Given the description of an element on the screen output the (x, y) to click on. 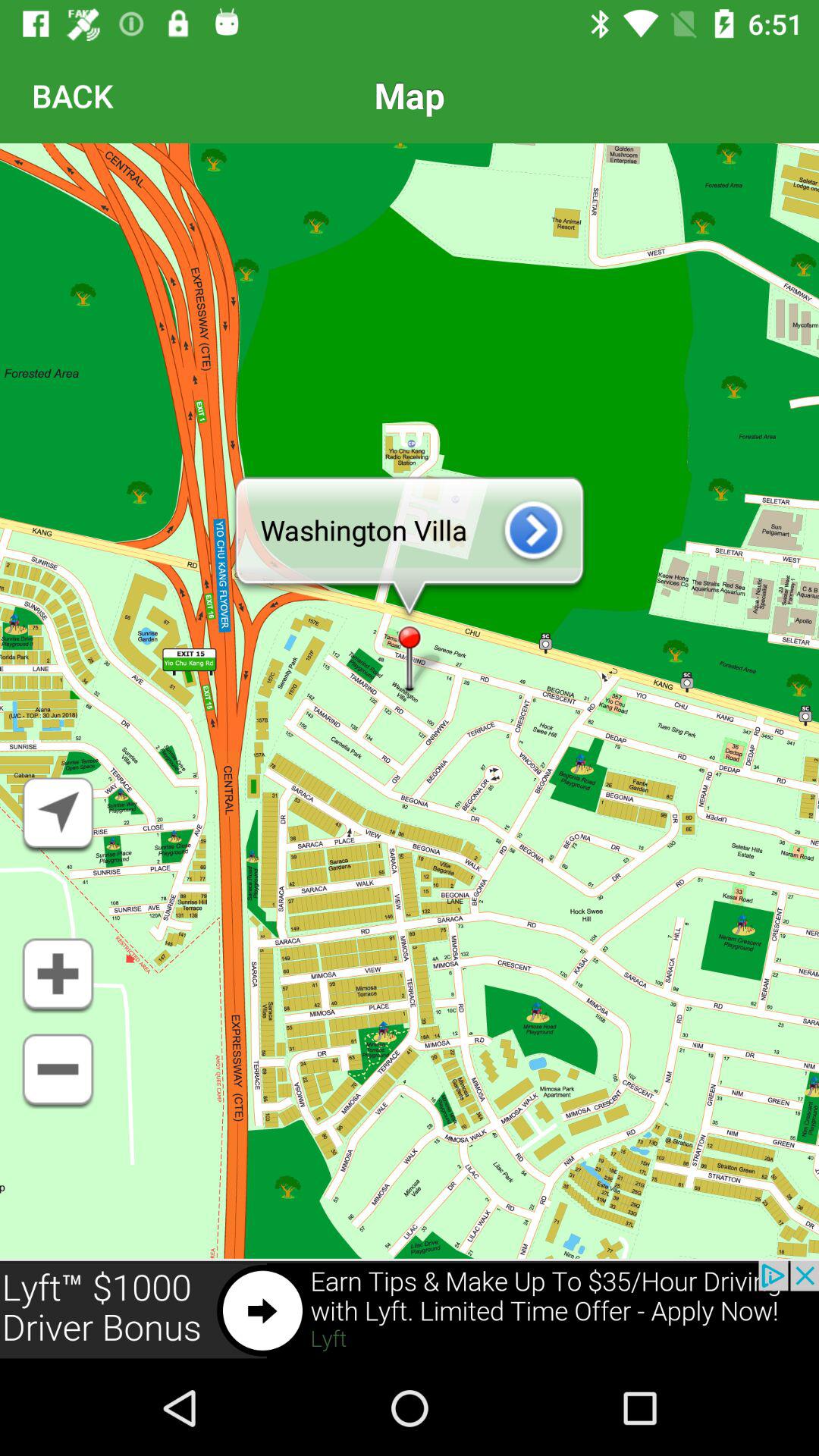
make map smaller (57, 1071)
